Given the description of an element on the screen output the (x, y) to click on. 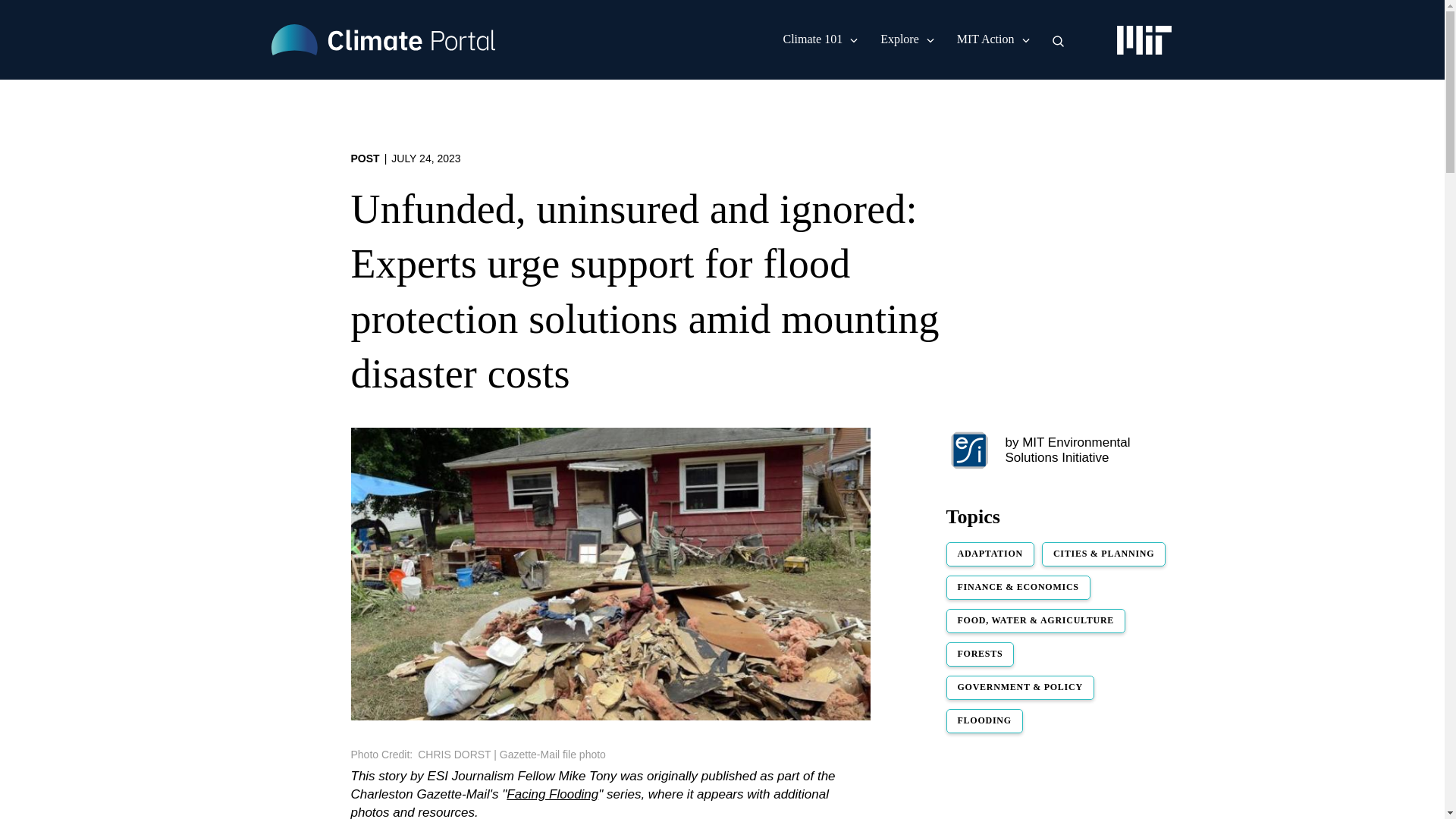
ADAPTATION (989, 554)
FORESTS (980, 654)
MIT Environmental Solutions Initiative (1068, 449)
Facing Flooding (552, 794)
FLOODING (984, 721)
Search (1058, 41)
